Given the description of an element on the screen output the (x, y) to click on. 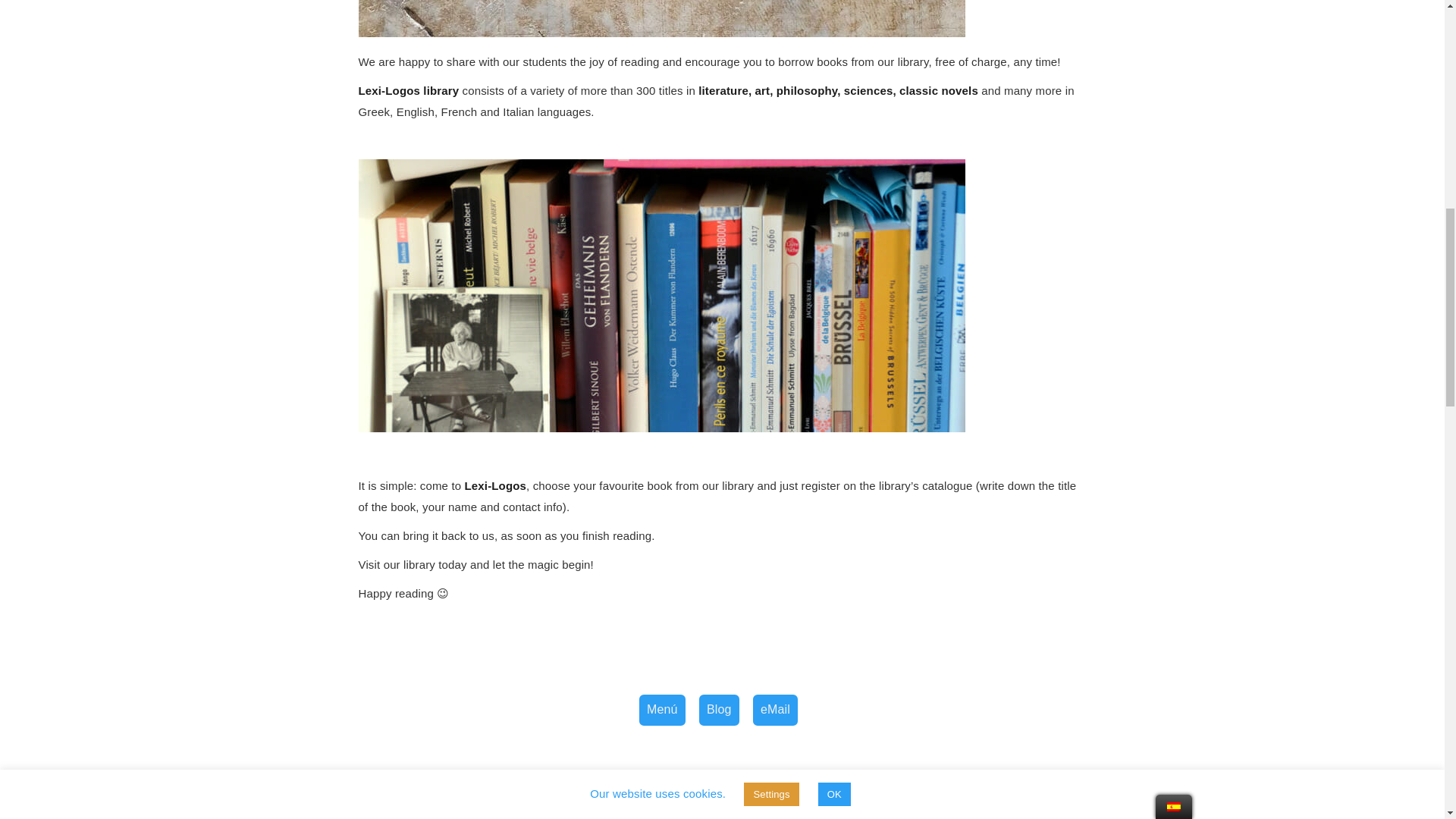
Mail (775, 709)
Blog (719, 709)
